Given the description of an element on the screen output the (x, y) to click on. 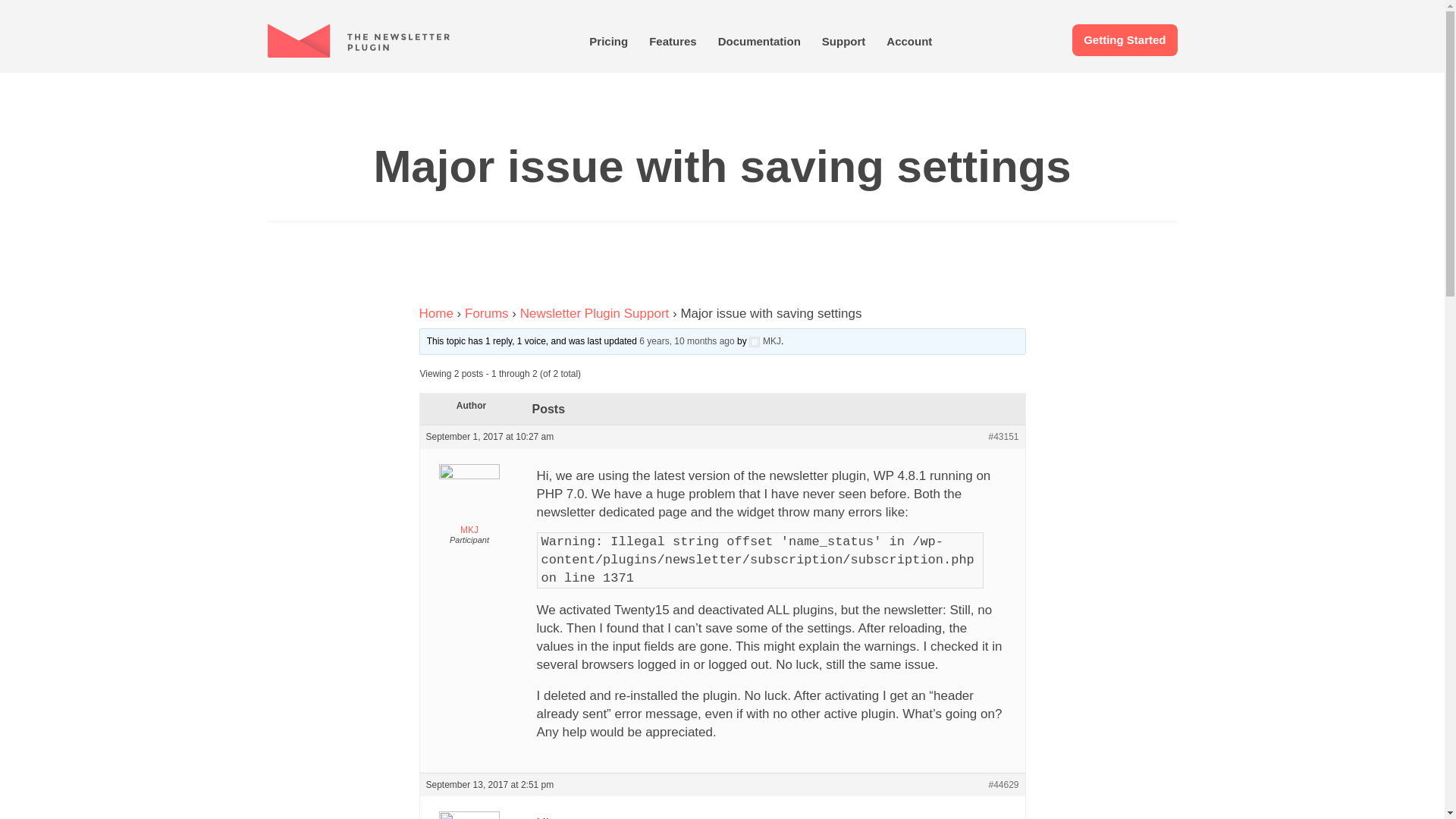
Forums (486, 313)
Account (908, 41)
Newsletter Plugin Support (594, 313)
Pricing (608, 41)
Documentation (758, 41)
6 years, 10 months ago (686, 340)
Home (435, 313)
Support (842, 41)
Features (673, 41)
View MKJ's profile (764, 340)
Getting Started (1123, 39)
MKJ (764, 340)
MKJ (469, 502)
